Given the description of an element on the screen output the (x, y) to click on. 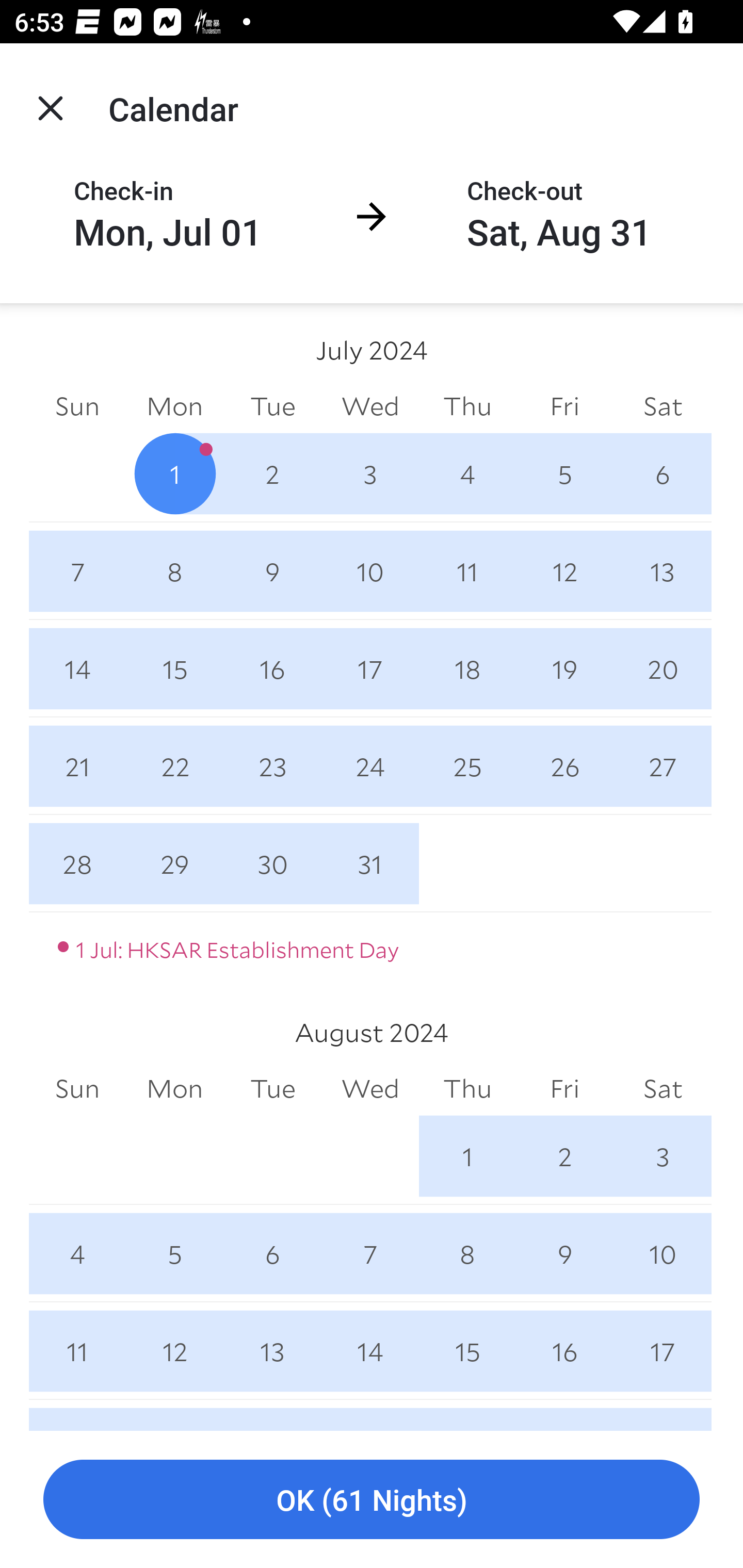
Sun (77, 405)
Mon (174, 405)
Tue (272, 405)
Wed (370, 405)
Thu (467, 405)
Fri (564, 405)
Sat (662, 405)
1 1 July 2024 (174, 473)
2 2 July 2024 (272, 473)
3 3 July 2024 (370, 473)
4 4 July 2024 (467, 473)
5 5 July 2024 (564, 473)
6 6 July 2024 (662, 473)
7 7 July 2024 (77, 570)
8 8 July 2024 (174, 570)
9 9 July 2024 (272, 570)
10 10 July 2024 (370, 570)
11 11 July 2024 (467, 570)
12 12 July 2024 (564, 570)
13 13 July 2024 (662, 570)
14 14 July 2024 (77, 668)
15 15 July 2024 (174, 668)
16 16 July 2024 (272, 668)
17 17 July 2024 (370, 668)
18 18 July 2024 (467, 668)
19 19 July 2024 (564, 668)
20 20 July 2024 (662, 668)
21 21 July 2024 (77, 766)
22 22 July 2024 (174, 766)
23 23 July 2024 (272, 766)
24 24 July 2024 (370, 766)
25 25 July 2024 (467, 766)
26 26 July 2024 (564, 766)
27 27 July 2024 (662, 766)
28 28 July 2024 (77, 863)
29 29 July 2024 (174, 863)
30 30 July 2024 (272, 863)
31 31 July 2024 (370, 863)
Sun (77, 1088)
Mon (174, 1088)
Tue (272, 1088)
Wed (370, 1088)
Thu (467, 1088)
Fri (564, 1088)
Sat (662, 1088)
1 1 August 2024 (467, 1155)
2 2 August 2024 (564, 1155)
3 3 August 2024 (662, 1155)
4 4 August 2024 (77, 1253)
